Given the description of an element on the screen output the (x, y) to click on. 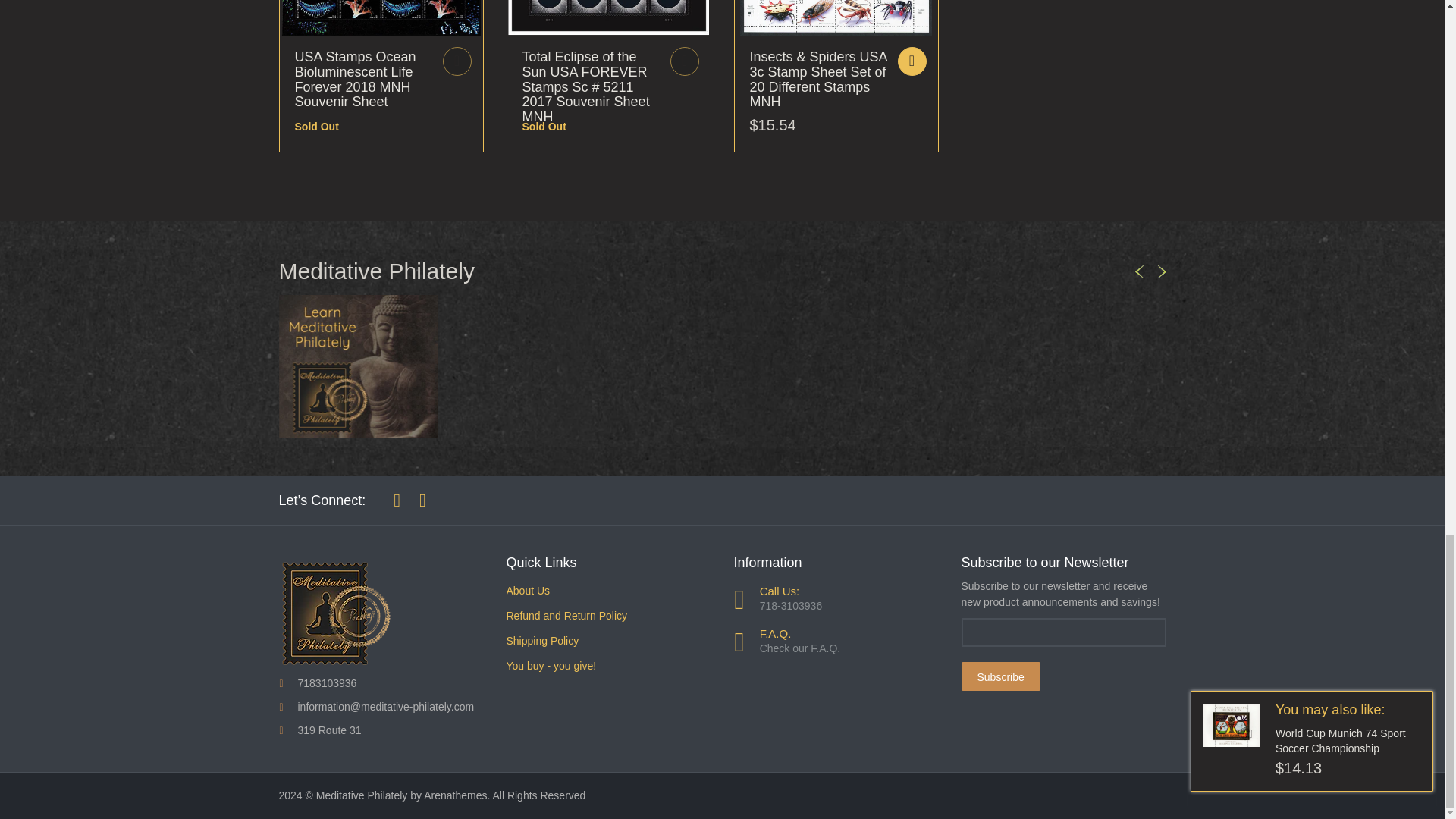
Add to cart (456, 61)
